Given the description of an element on the screen output the (x, y) to click on. 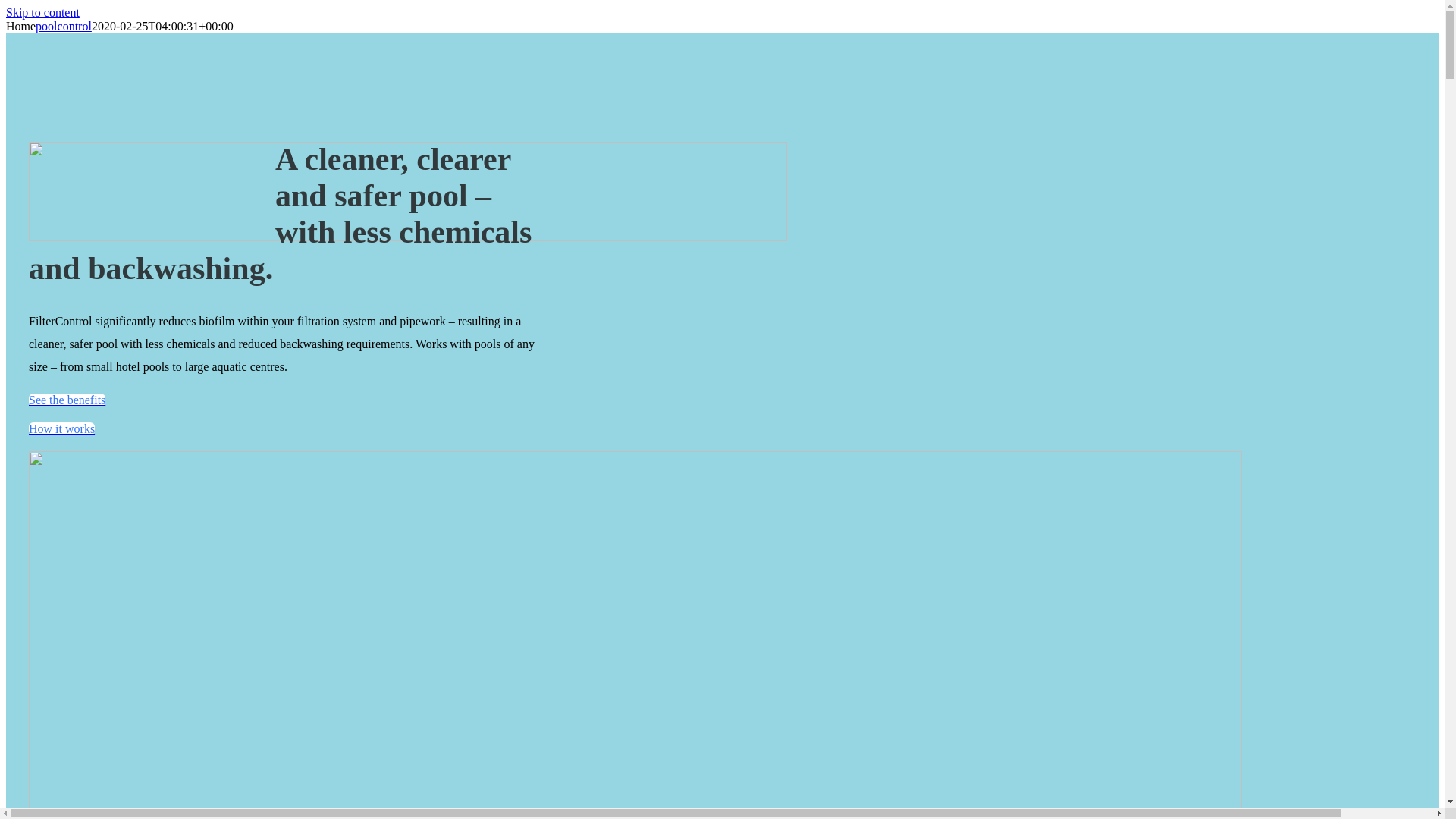
See the benefits Element type: text (66, 399)
Skip to content Element type: text (42, 12)
FIlterControl_Logo Element type: hover (407, 191)
poolcontrol Element type: text (63, 25)
How it works Element type: text (61, 428)
